Given the description of an element on the screen output the (x, y) to click on. 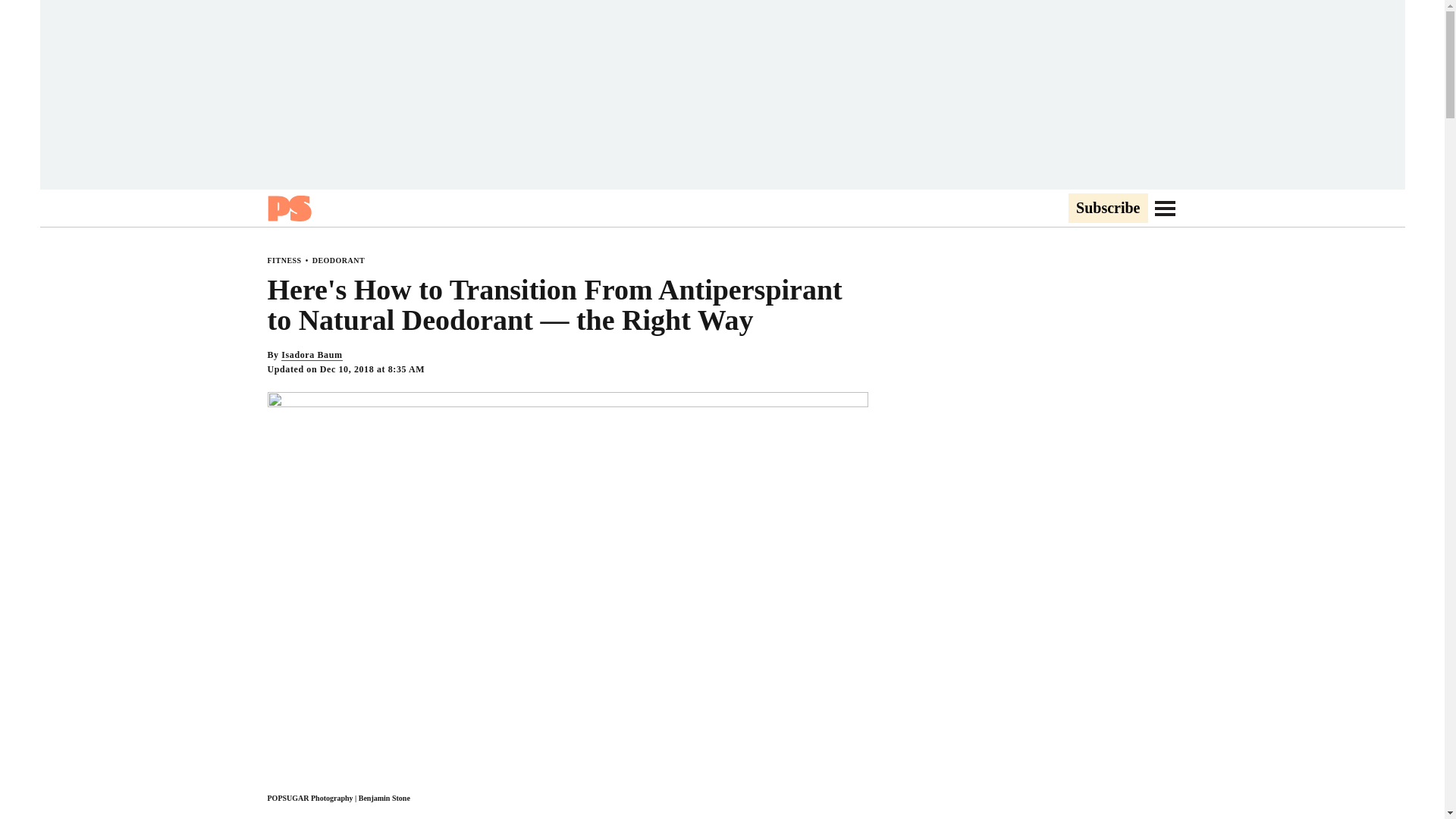
Go to Navigation (1164, 207)
Go to Navigation (1164, 207)
Popsugar (288, 208)
DEODORANT (339, 260)
Subscribe (1107, 208)
Isadora Baum (311, 355)
FITNESS (283, 260)
